Given the description of an element on the screen output the (x, y) to click on. 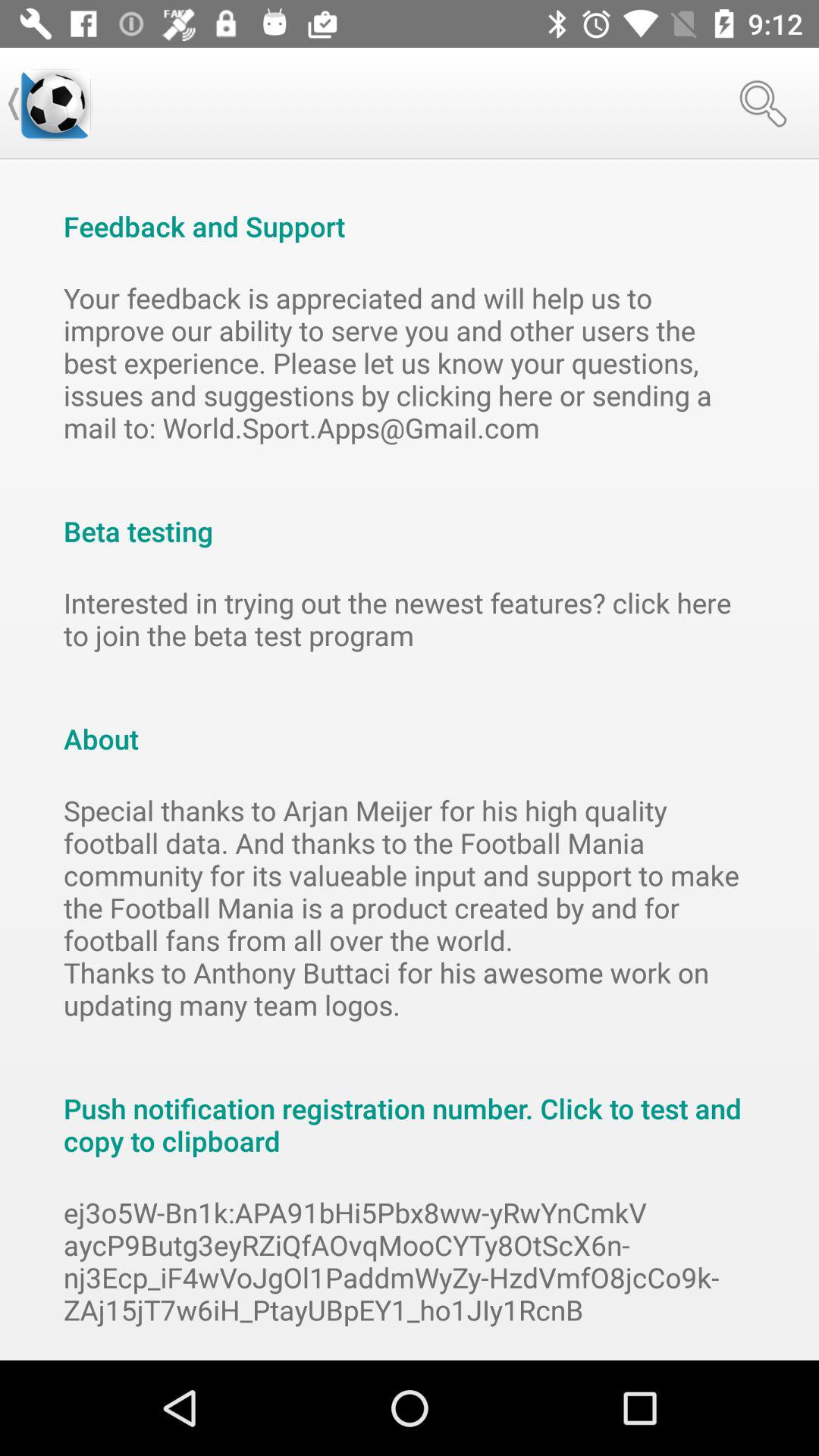
launch icon above interested in trying item (409, 514)
